Given the description of an element on the screen output the (x, y) to click on. 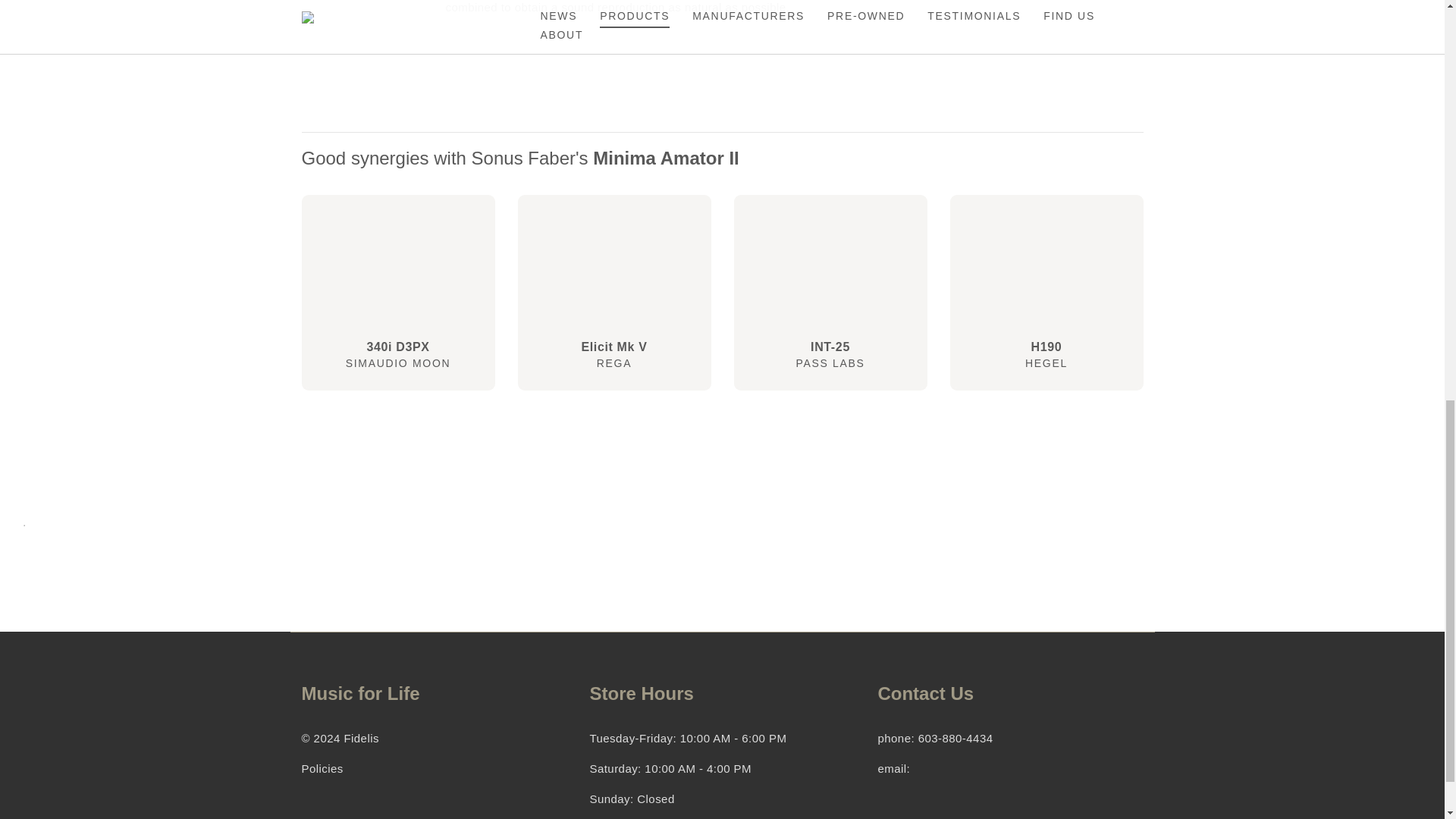
. (830, 292)
Policies (24, 522)
